Given the description of an element on the screen output the (x, y) to click on. 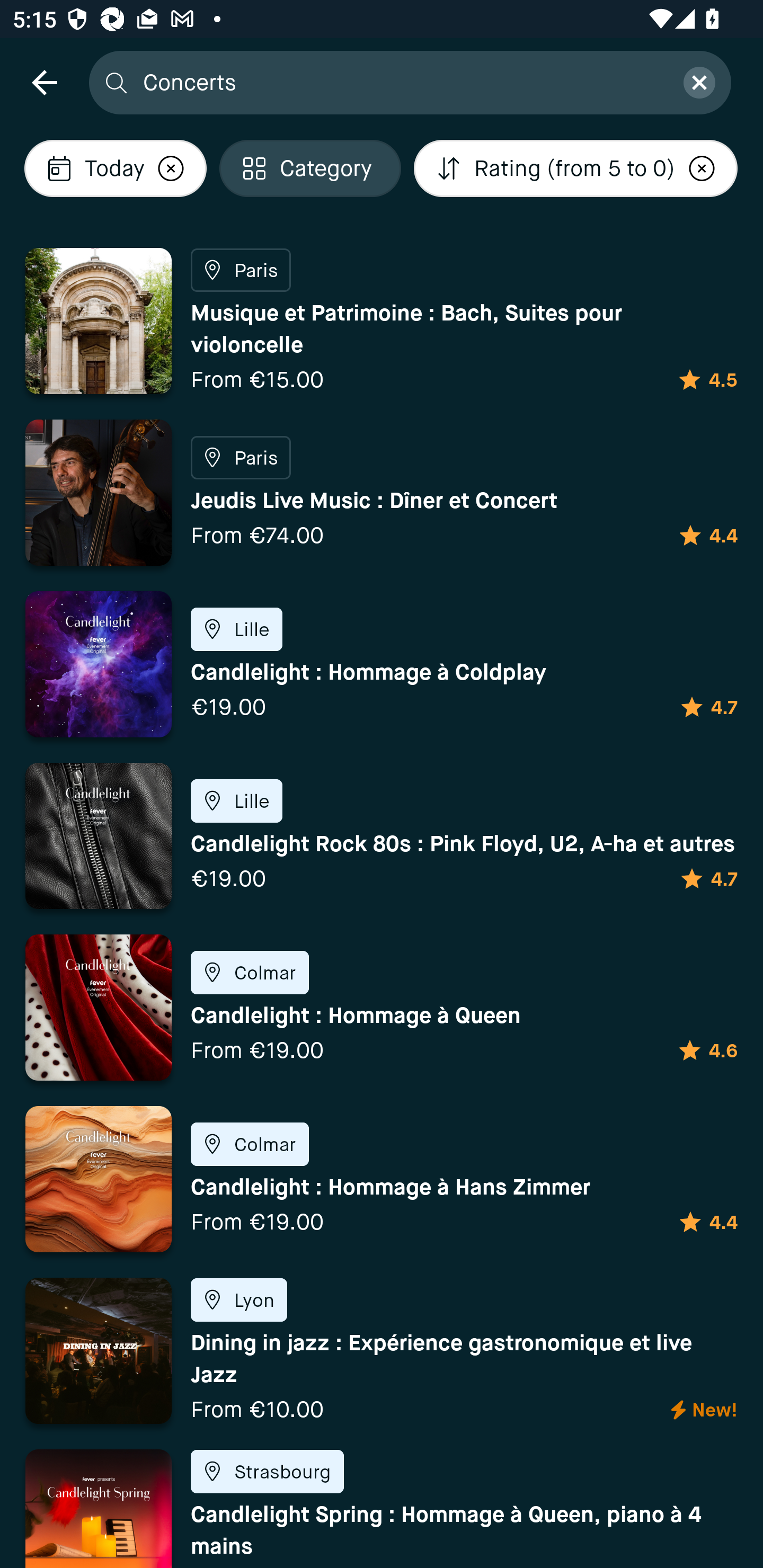
navigation icon (44, 81)
Concerts (402, 81)
Localized description Today Localized description (115, 168)
Localized description (170, 168)
Localized description Category (310, 168)
Localized description (701, 168)
